Given the description of an element on the screen output the (x, y) to click on. 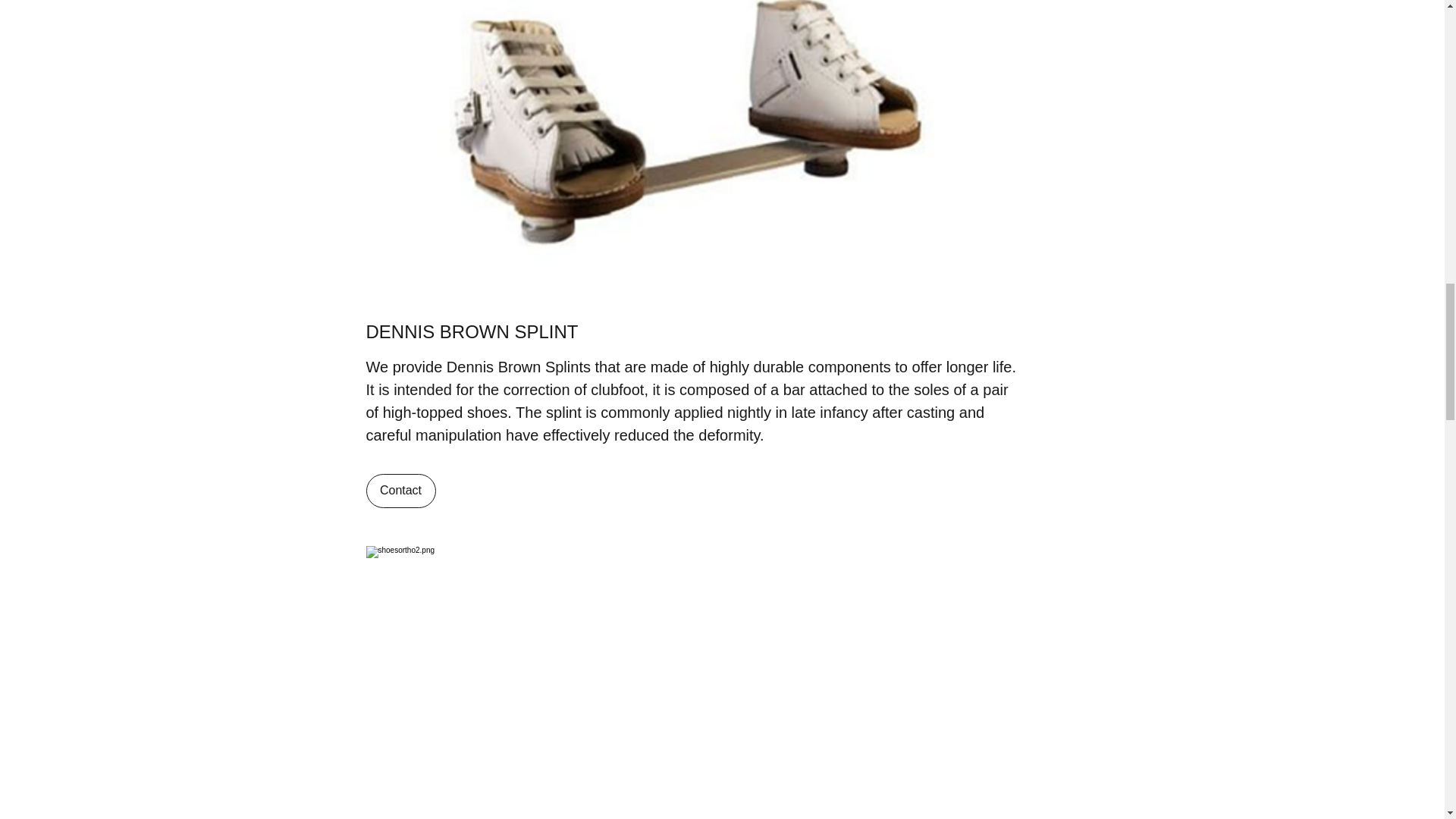
Contact (400, 490)
